Given the description of an element on the screen output the (x, y) to click on. 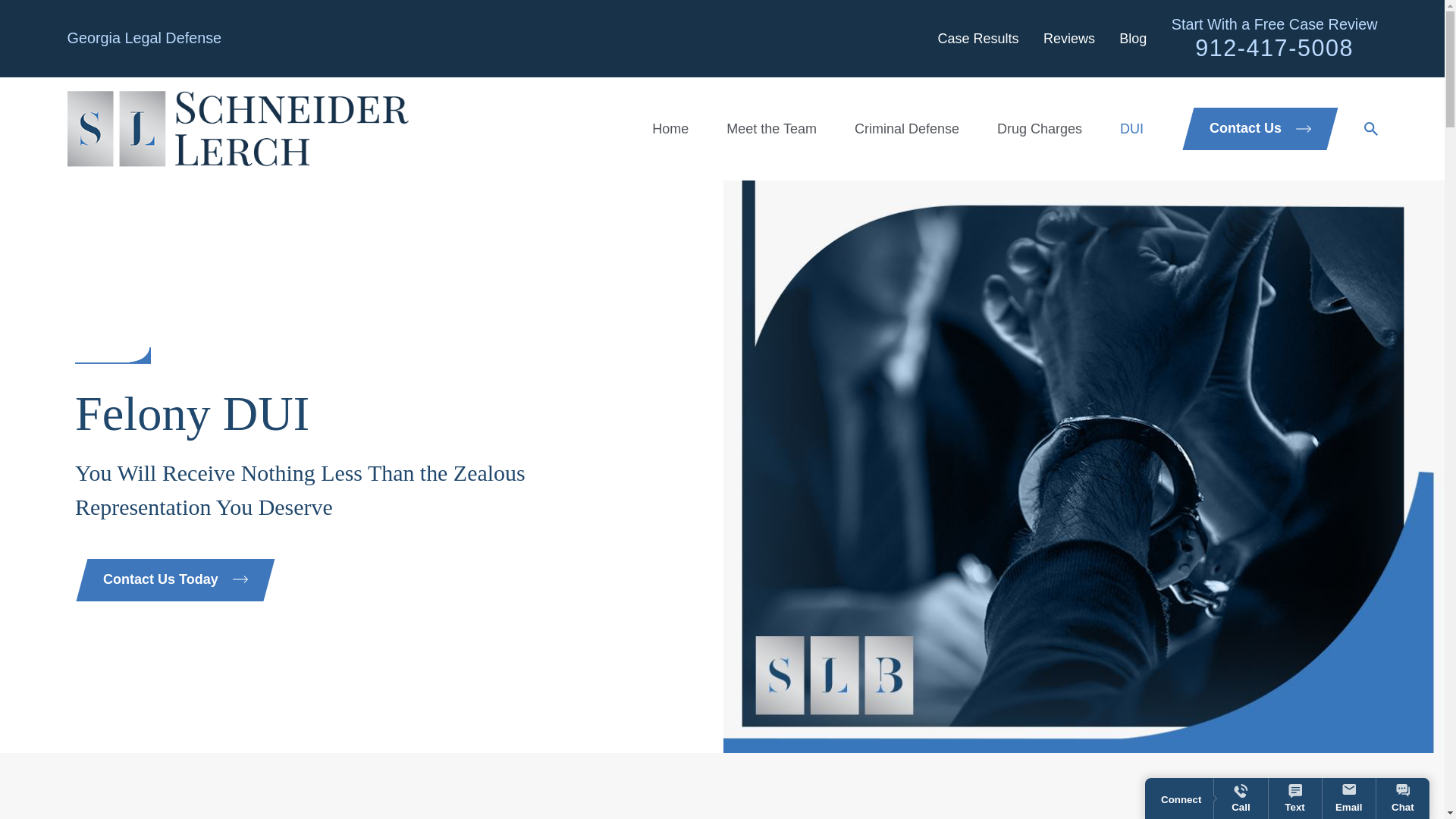
912-417-5008 (1274, 47)
Reviews (1068, 38)
Meet the Team (771, 128)
Home (236, 128)
Blog (1133, 38)
Case Results (977, 38)
Criminal Defense (906, 128)
